Given the description of an element on the screen output the (x, y) to click on. 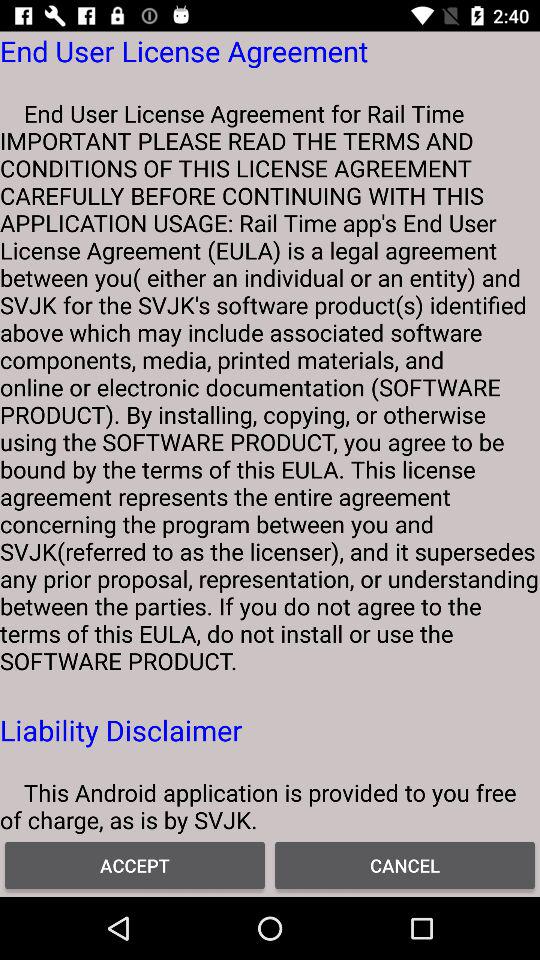
jump to the cancel (405, 864)
